Given the description of an element on the screen output the (x, y) to click on. 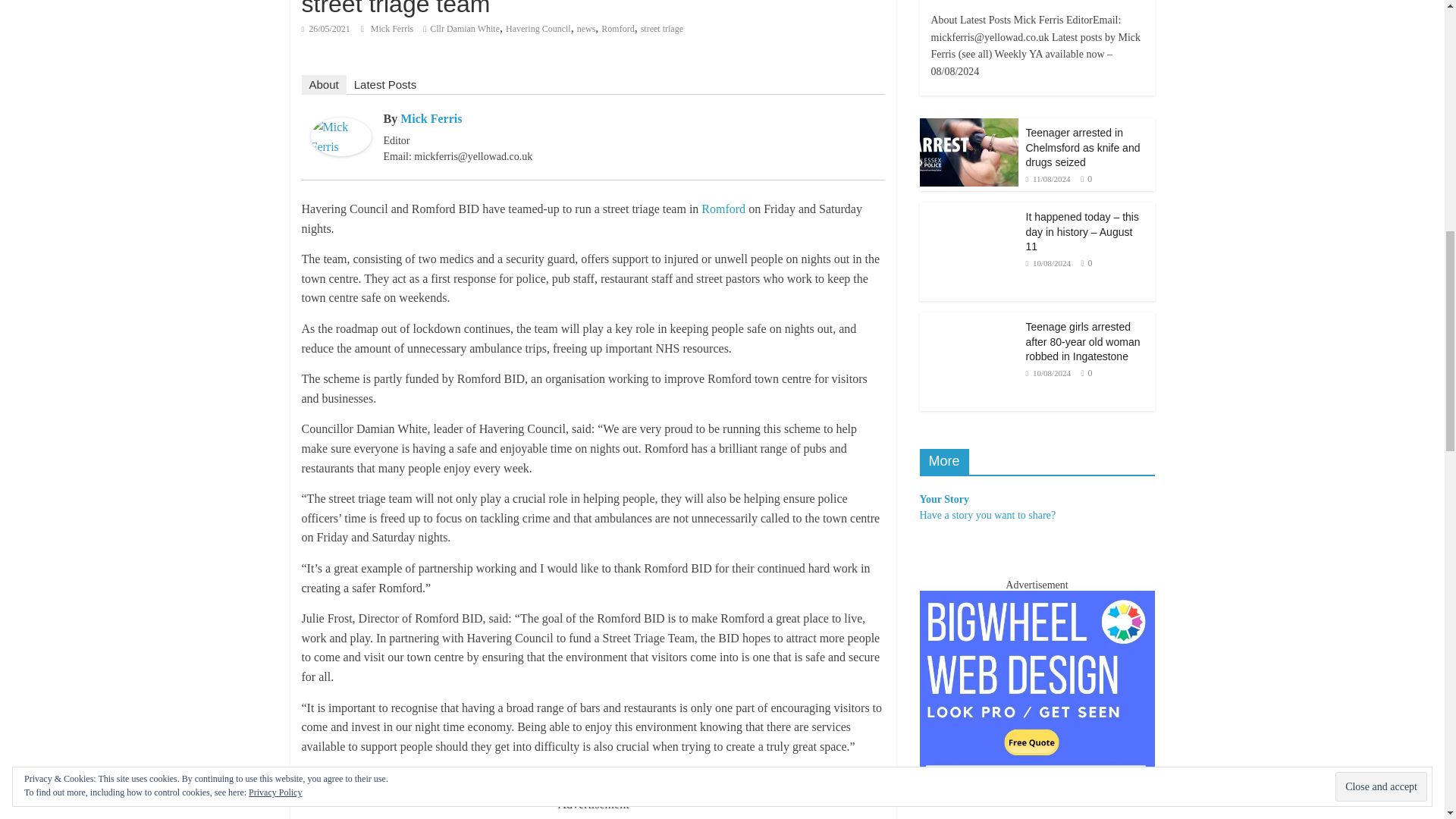
Mick Ferris (341, 126)
5:00 am (325, 28)
Mick Ferris (392, 28)
